Given the description of an element on the screen output the (x, y) to click on. 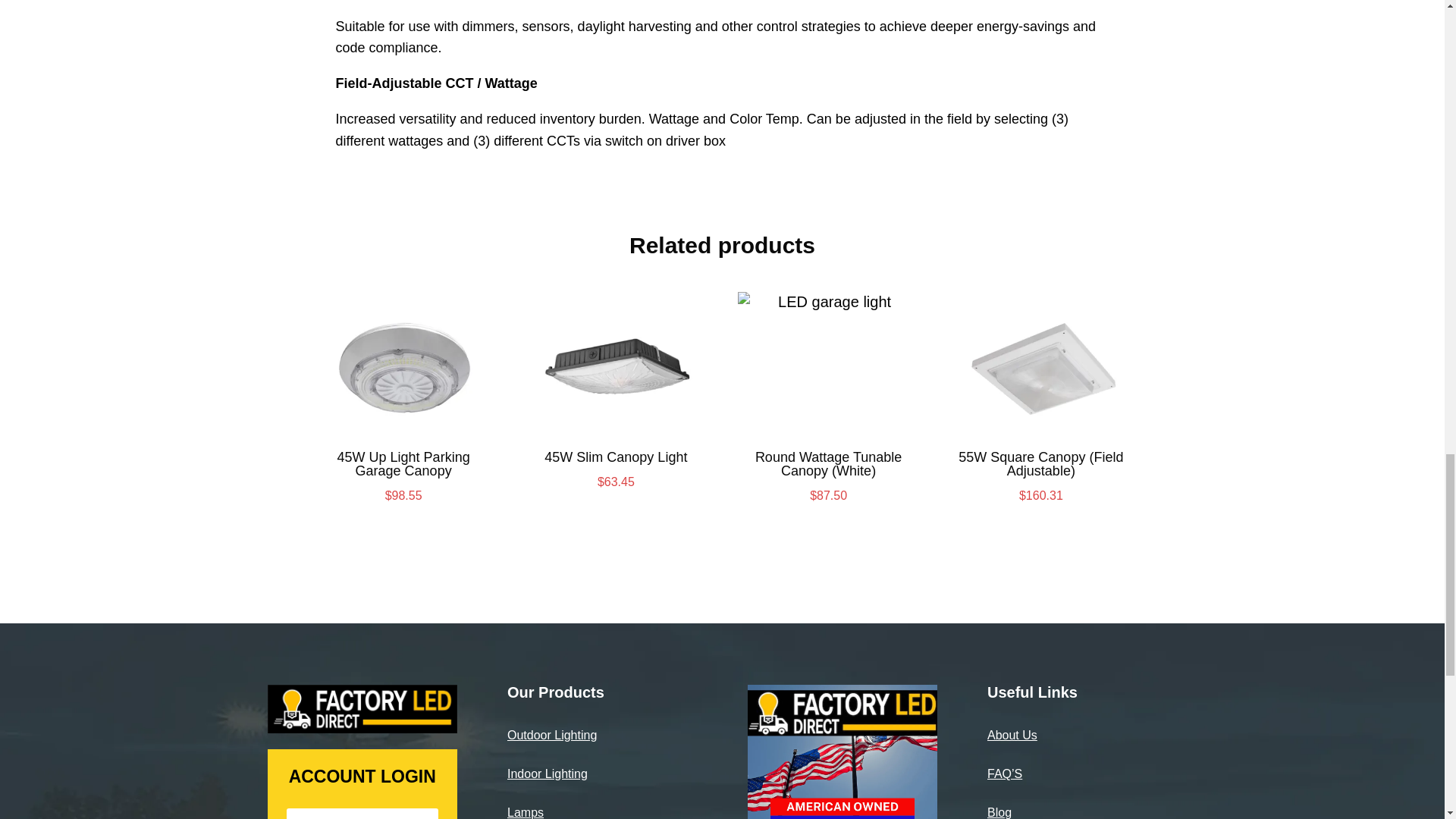
USA owned and operated (842, 751)
